Given the description of an element on the screen output the (x, y) to click on. 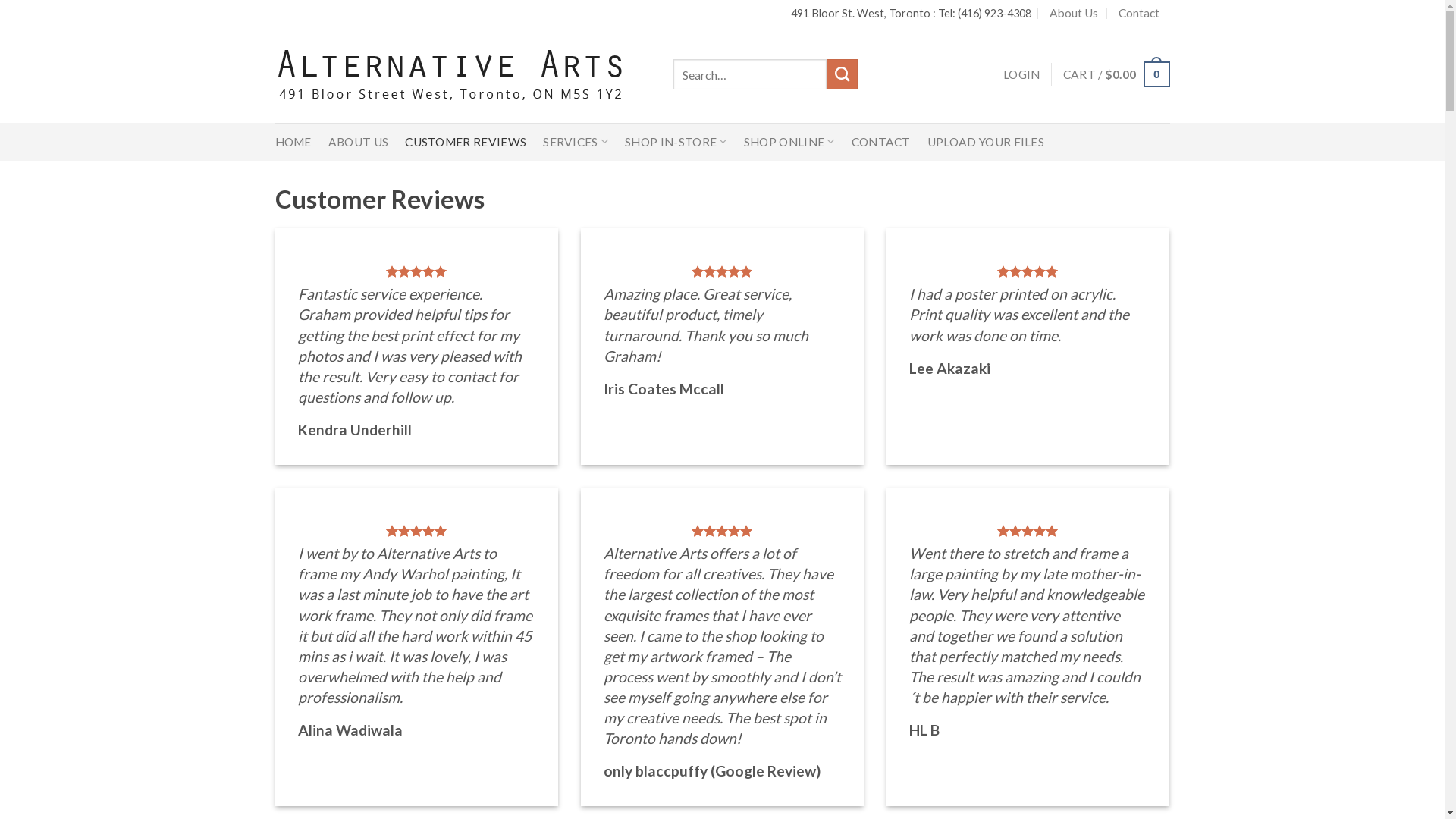
LOGIN Element type: text (1021, 74)
Search Element type: text (841, 74)
SHOP ONLINE Element type: text (788, 141)
CUSTOMER REVIEWS Element type: text (465, 141)
Contact Element type: text (1138, 13)
SHOP IN-STORE Element type: text (675, 141)
SERVICES Element type: text (575, 141)
About Us Element type: text (1073, 13)
UPLOAD YOUR FILES Element type: text (985, 141)
HOME Element type: text (292, 141)
ABOUT US Element type: text (358, 141)
Skip to content Element type: text (0, 0)
CART / $0.00
0 Element type: text (1116, 74)
CONTACT Element type: text (880, 141)
